Given the description of an element on the screen output the (x, y) to click on. 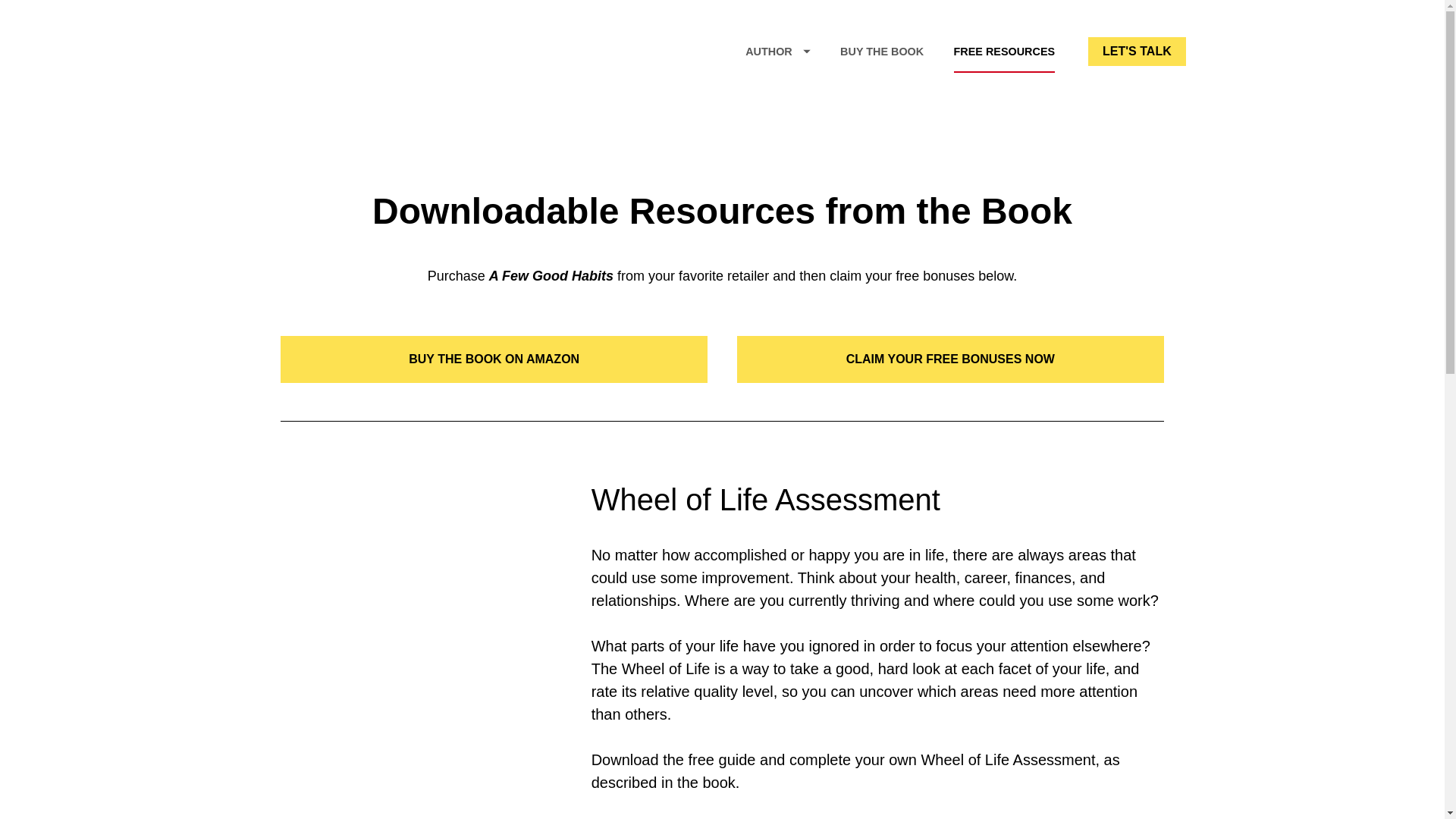
CLAIM YOUR FREE BONUSES NOW (949, 359)
BUY THE BOOK (881, 51)
AUTHOR (777, 51)
BUY THE BOOK ON AMAZON (494, 359)
FREE RESOURCES (1004, 51)
LET'S TALK (1136, 51)
